Given the description of an element on the screen output the (x, y) to click on. 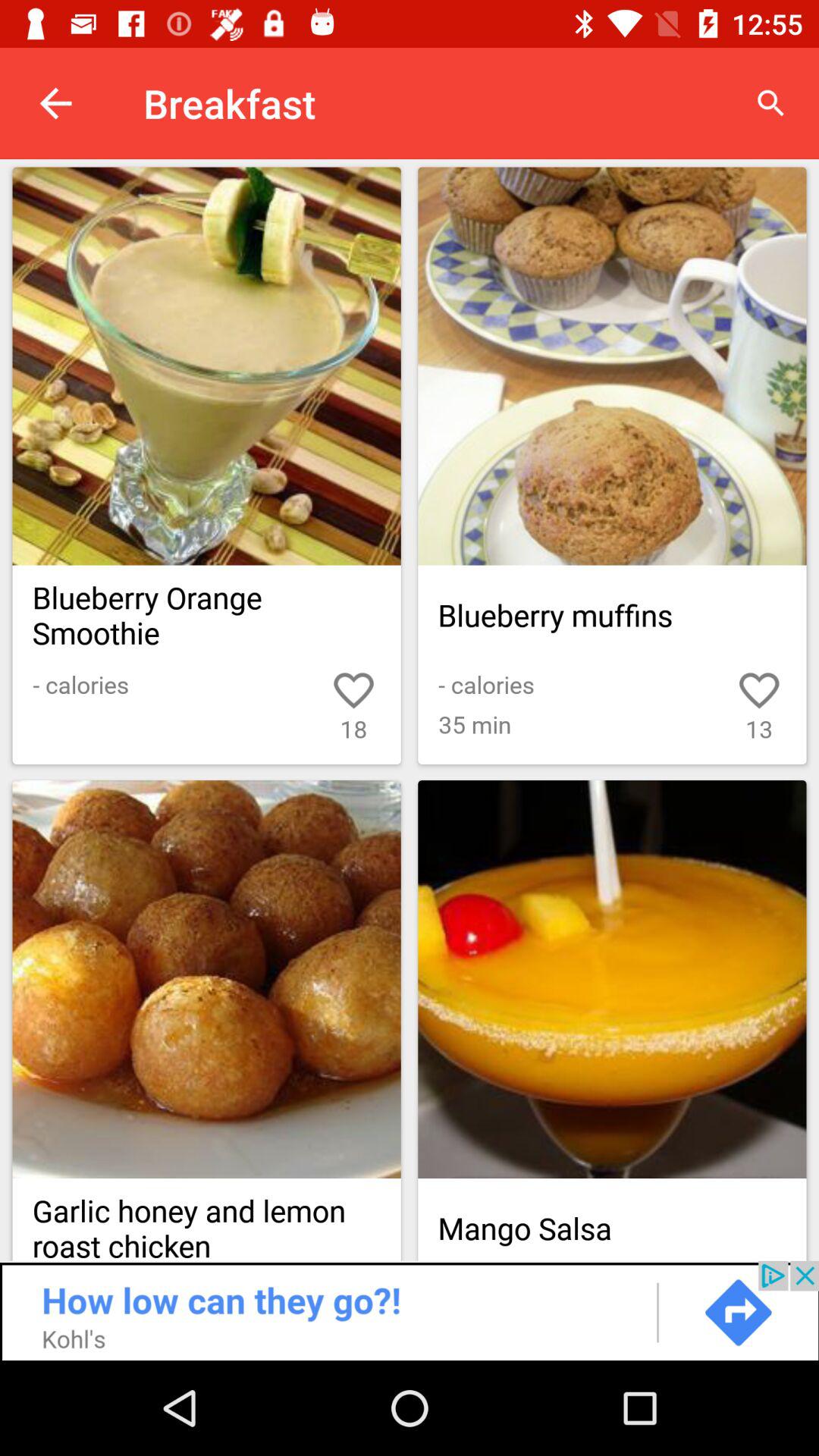
advertisement (409, 1310)
